Given the description of an element on the screen output the (x, y) to click on. 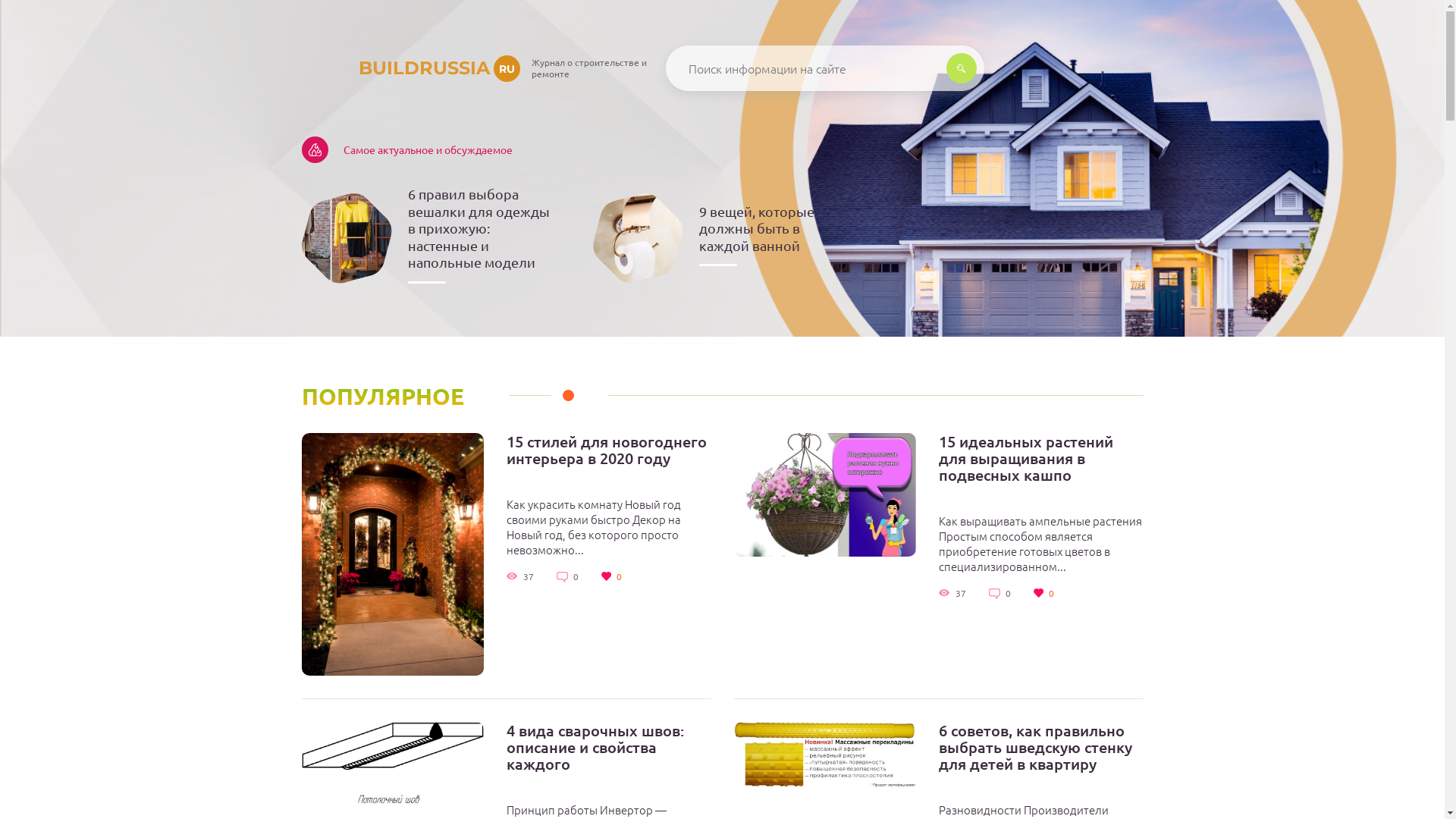
BUILDRUSSIA
RU Element type: text (410, 68)
